Given the description of an element on the screen output the (x, y) to click on. 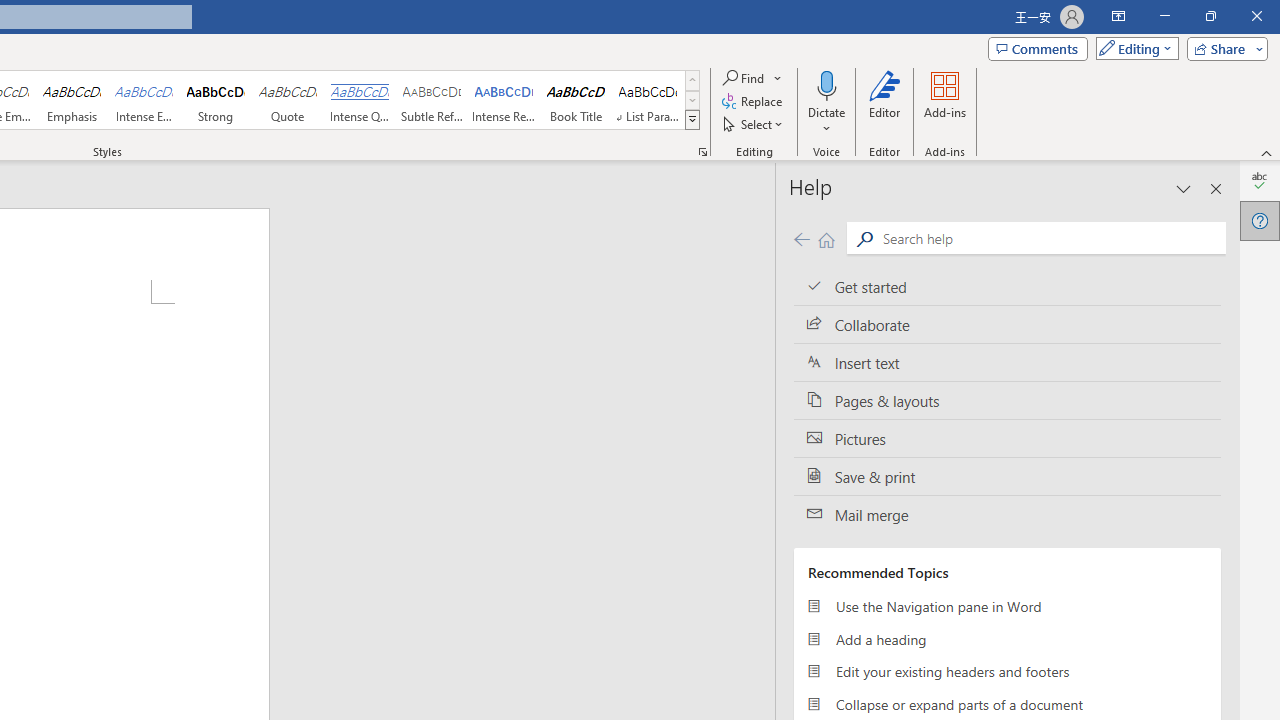
Intense Emphasis (143, 100)
Previous page (801, 238)
Book Title (575, 100)
Styles (692, 120)
Pages & layouts (1007, 400)
Styles... (702, 151)
Row Down (692, 100)
